Given the description of an element on the screen output the (x, y) to click on. 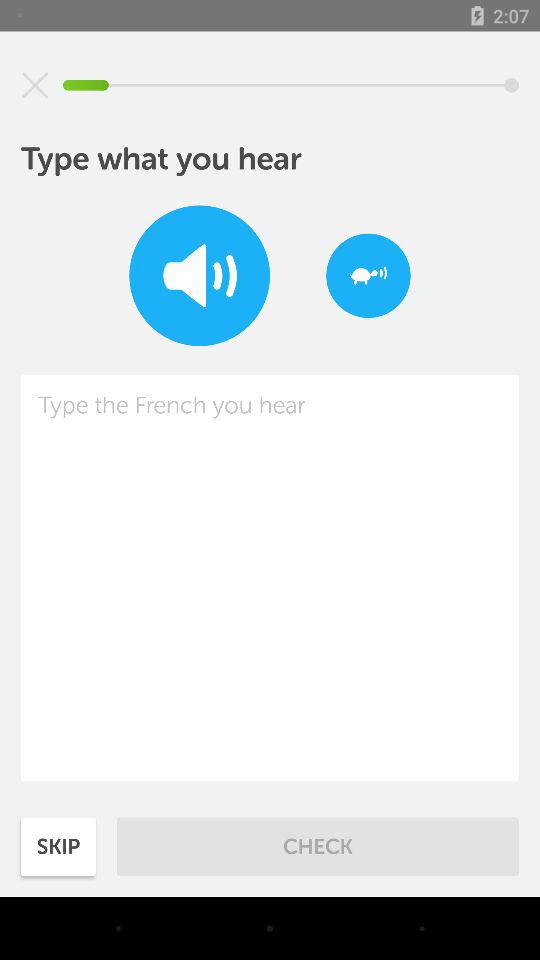
turn on item above type what you icon (35, 85)
